Given the description of an element on the screen output the (x, y) to click on. 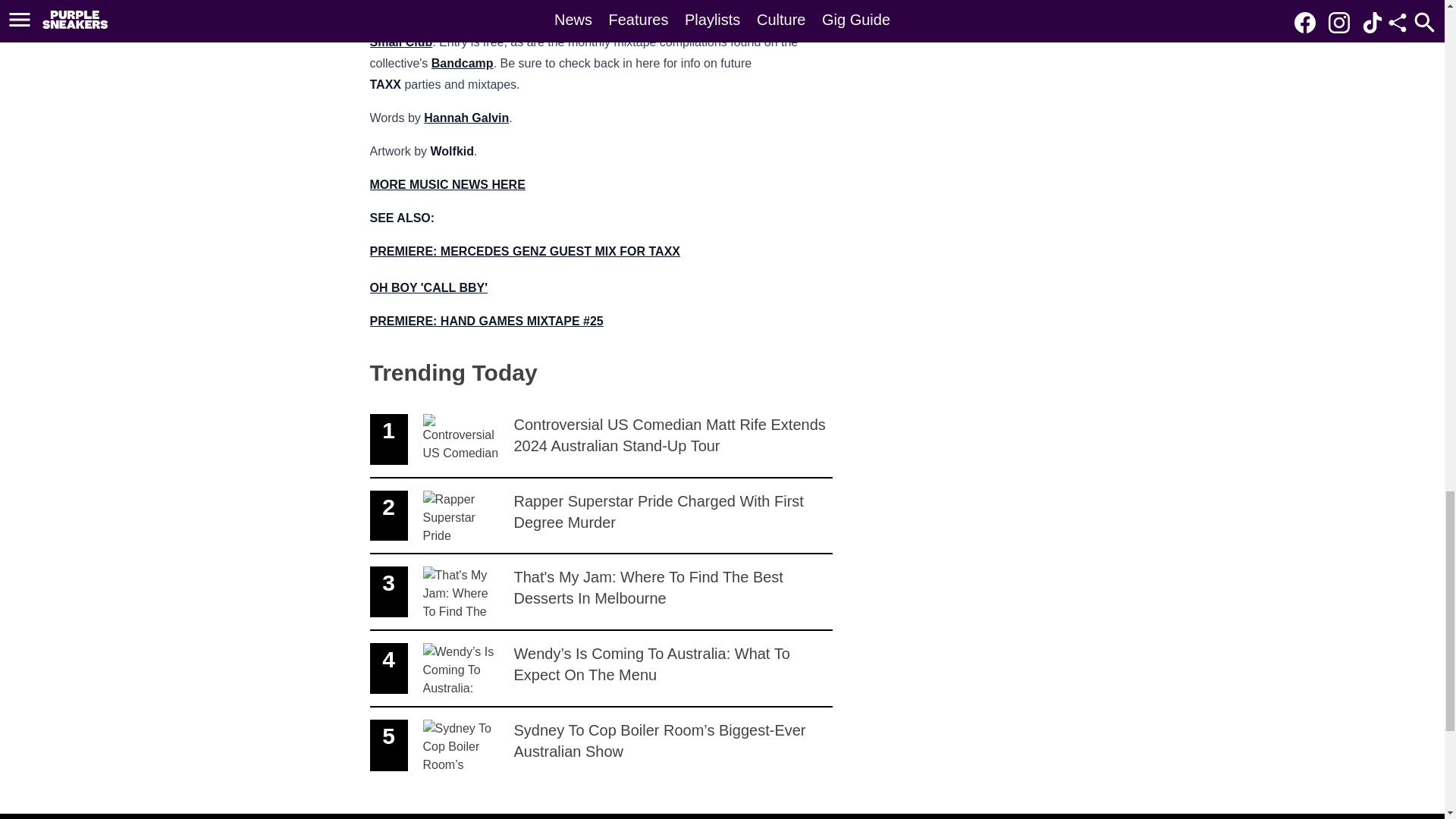
Bandcamp (461, 62)
Hannah Galvin (465, 117)
Plan B Small Club (576, 31)
one Saturday a month (531, 20)
